Given the description of an element on the screen output the (x, y) to click on. 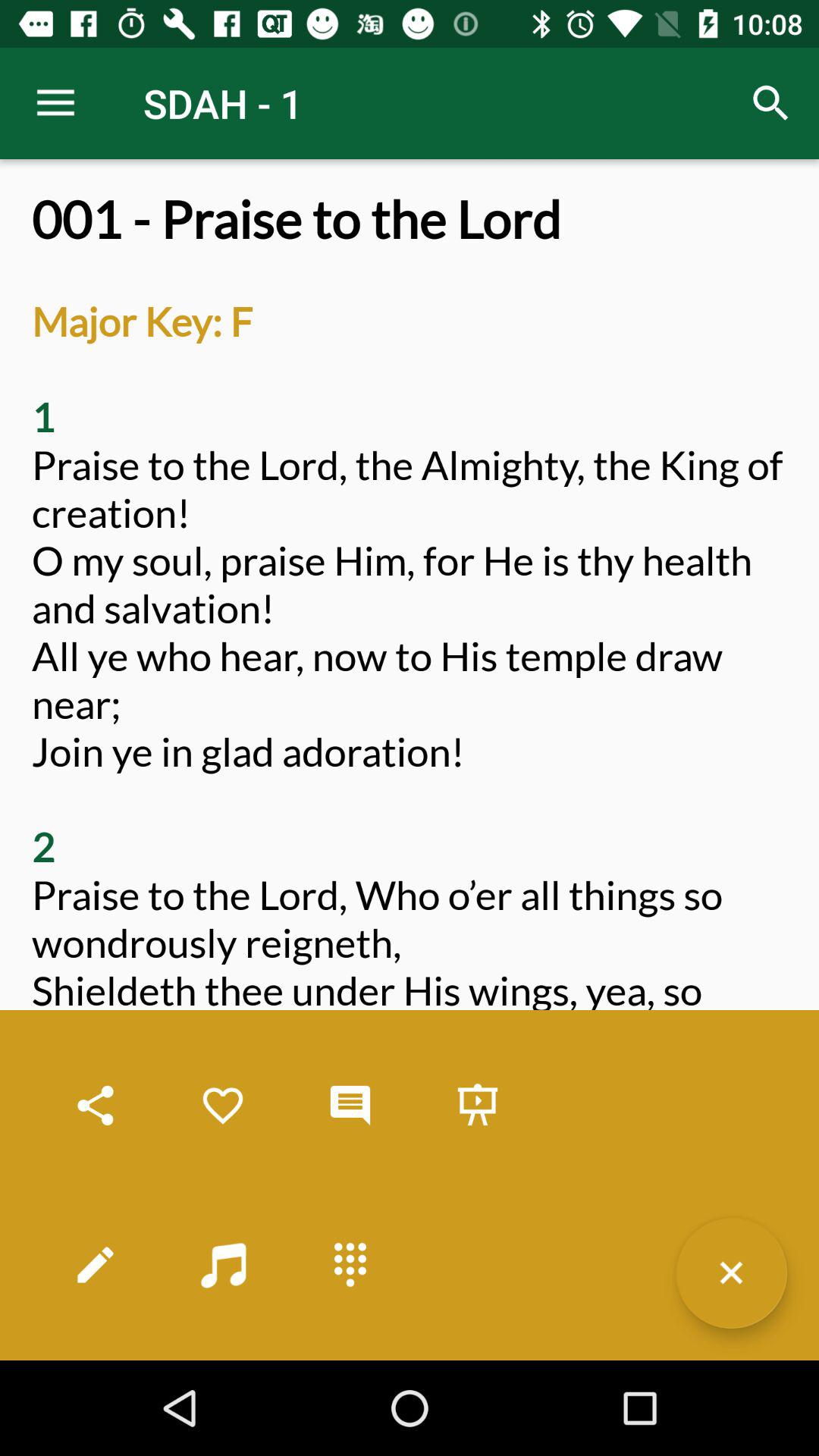
press the icon at the center (409, 775)
